Given the description of an element on the screen output the (x, y) to click on. 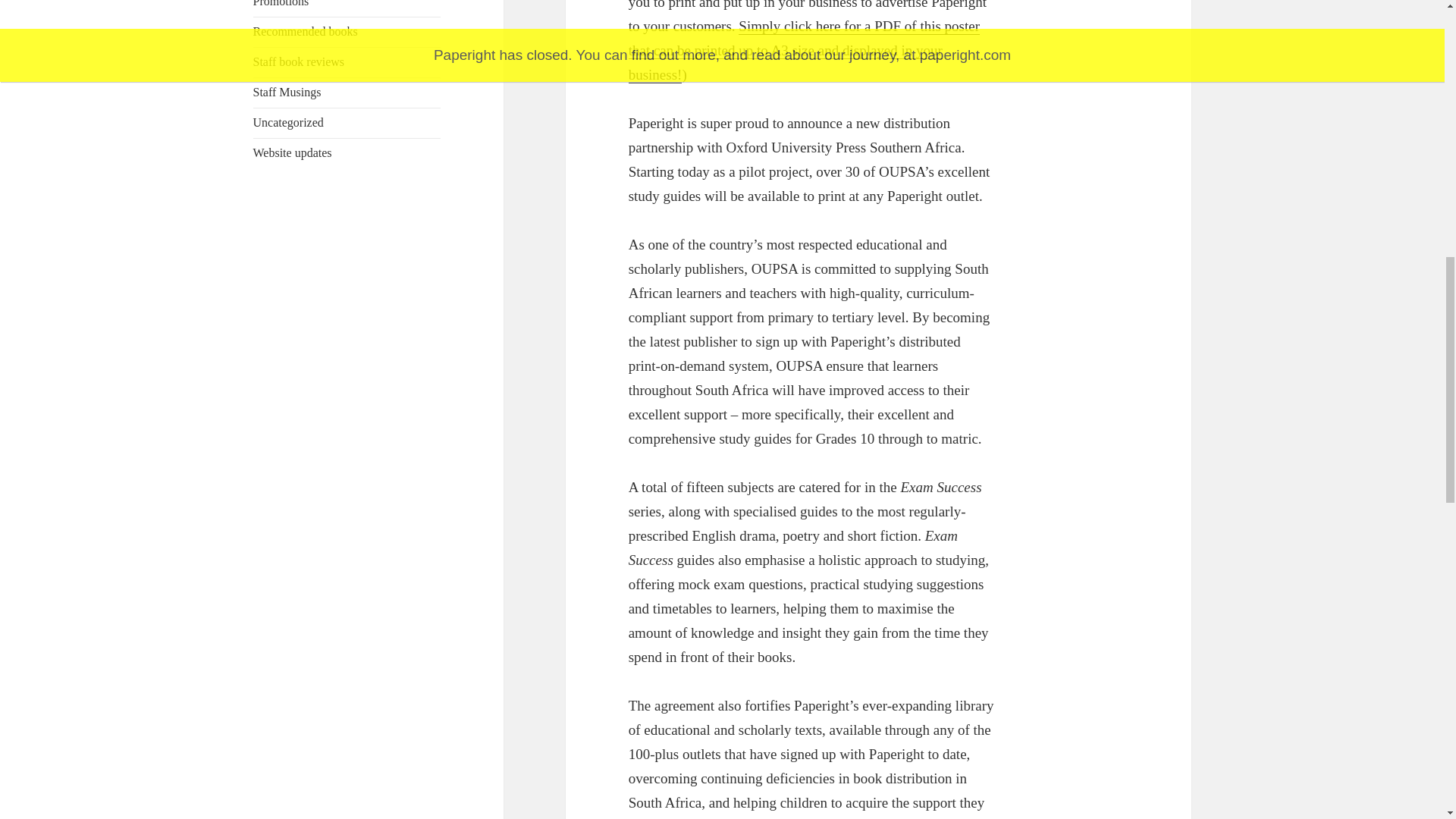
Staff book reviews (299, 61)
Uncategorized (288, 122)
Promotions (280, 3)
Staff Musings (287, 91)
Recommended books (305, 31)
Website updates (292, 152)
